Given the description of an element on the screen output the (x, y) to click on. 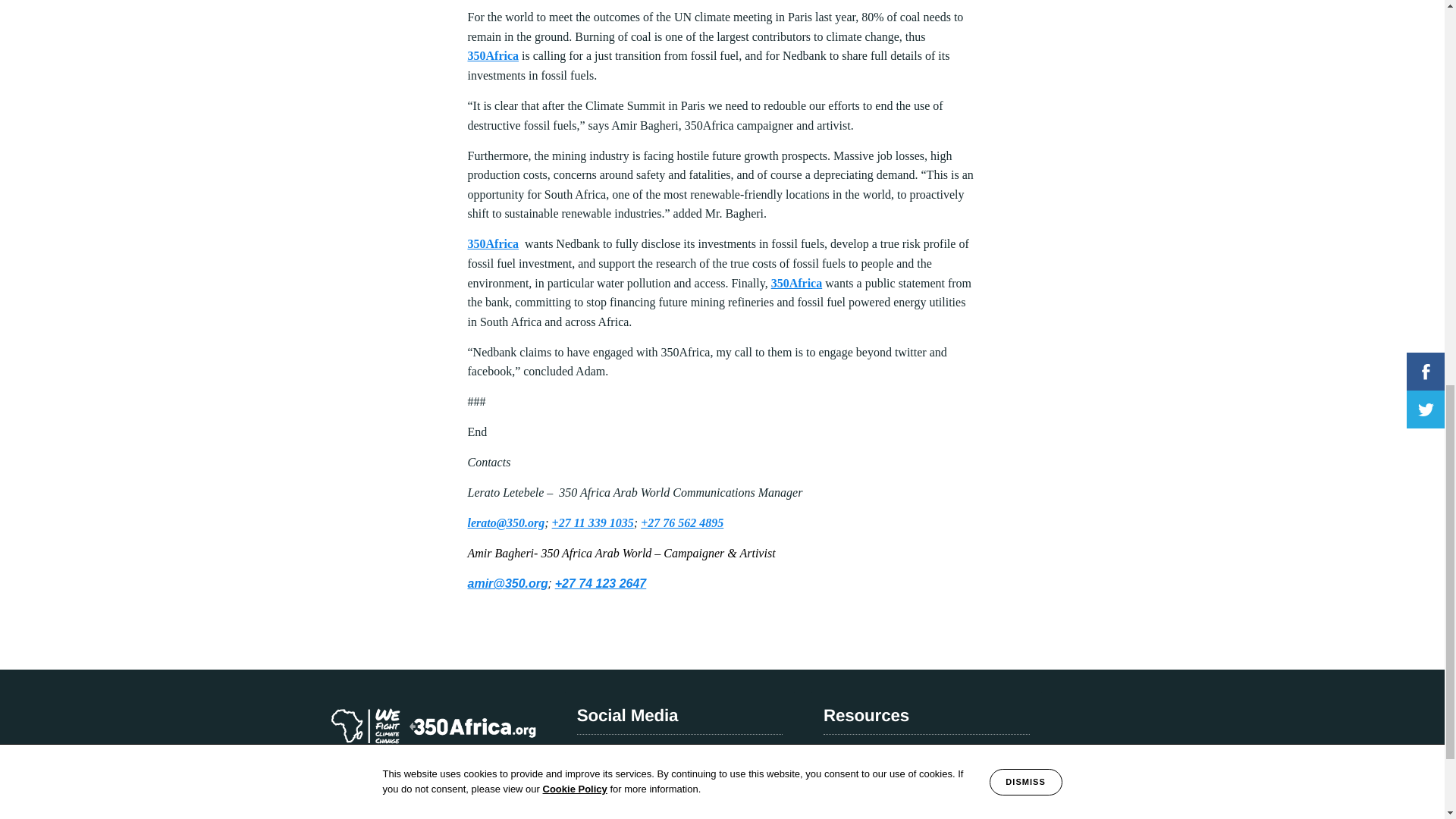
350Africa (796, 282)
350Africa (492, 55)
350Africa (492, 243)
